Given the description of an element on the screen output the (x, y) to click on. 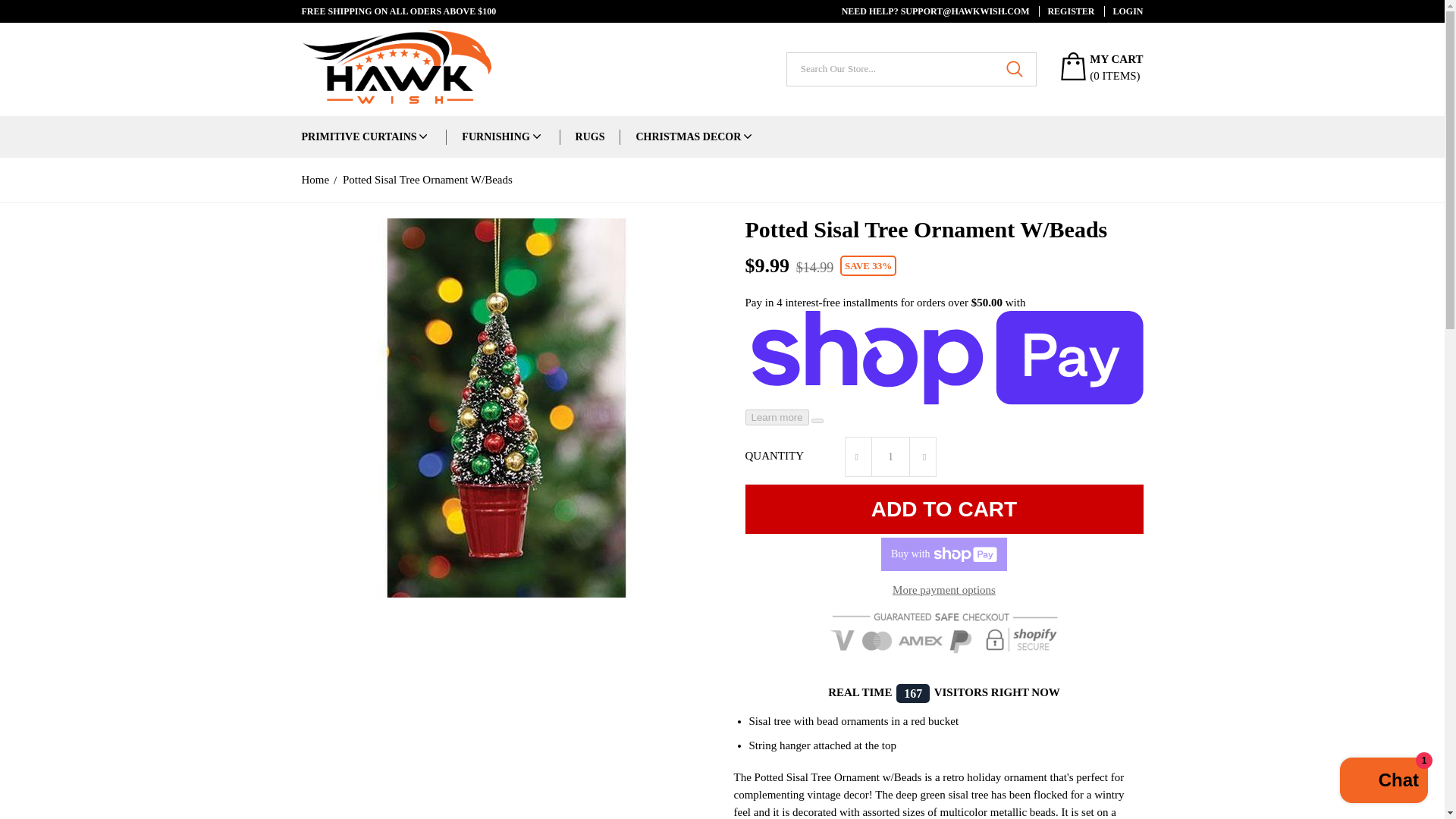
PRIMITIVE CURTAINS (358, 136)
LOGIN (1122, 10)
Shopify online store chat (1383, 781)
RUGS (590, 136)
REGISTER (1066, 10)
CHRISTMAS DECOR (687, 136)
FURNISHING (495, 136)
1 (890, 456)
